Given the description of an element on the screen output the (x, y) to click on. 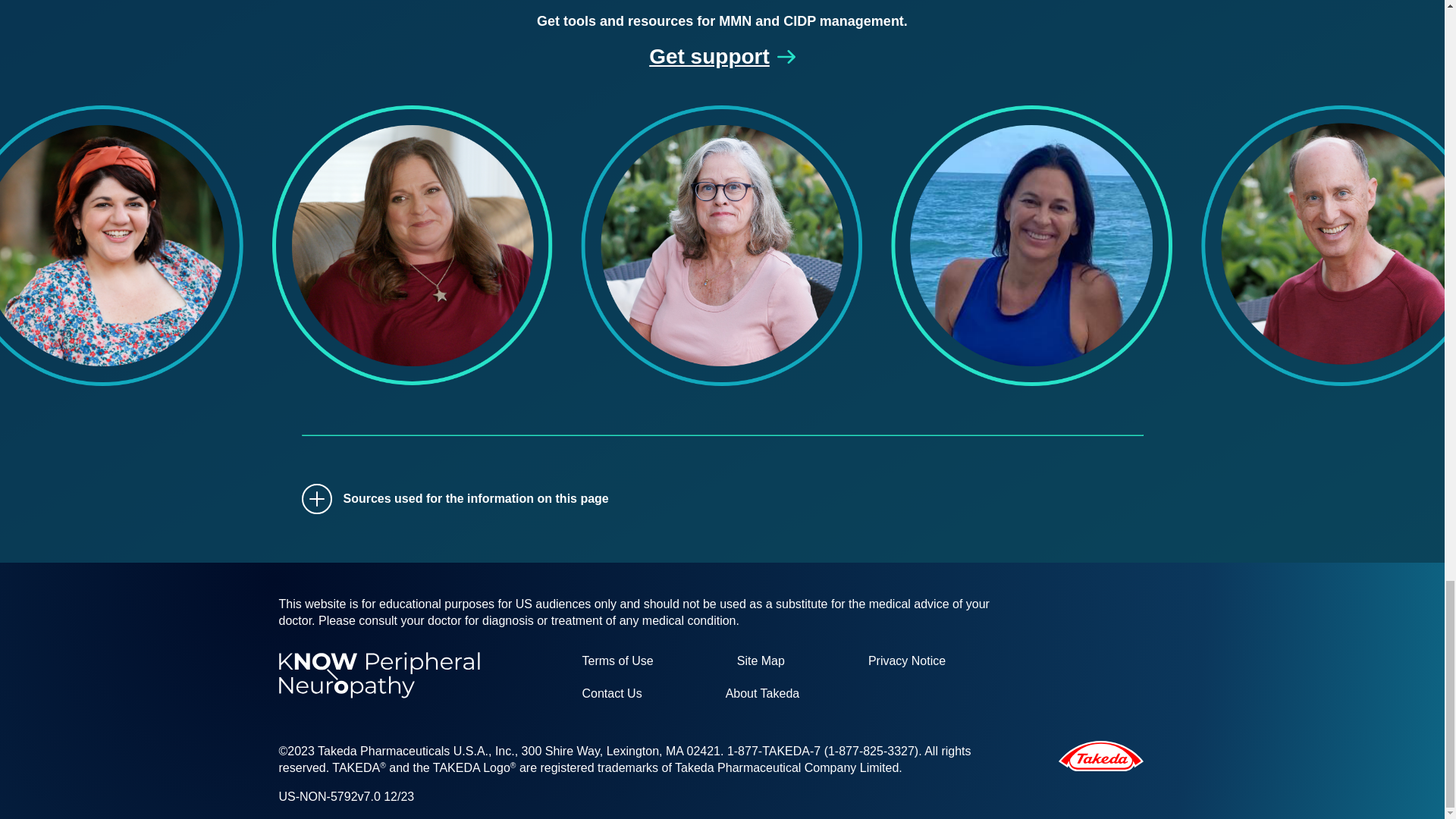
Get support (721, 56)
Sources used for the information on this page (721, 498)
Terms of Use (616, 660)
Site Map (760, 660)
About Takeda (762, 693)
Contact Us (611, 693)
Privacy Notice (905, 660)
